Given the description of an element on the screen output the (x, y) to click on. 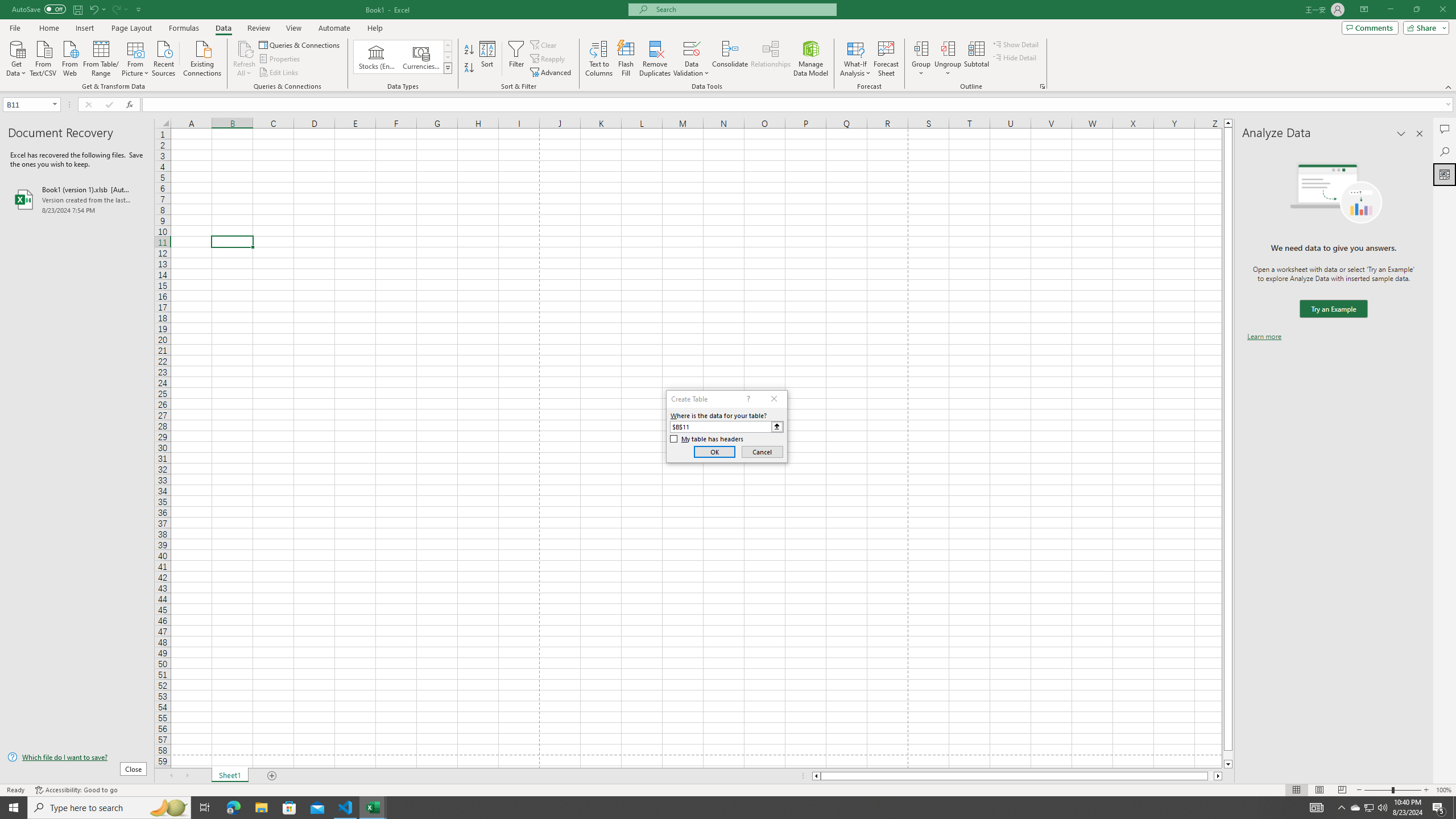
Data Types (448, 67)
Close pane (1419, 133)
Zoom In (1426, 790)
Filter (515, 58)
What-If Analysis (855, 58)
Refresh All (244, 48)
Column left (815, 775)
Page down (1228, 755)
Search (1444, 151)
From Web (69, 57)
Consolidate... (729, 58)
Sheet1 (229, 775)
Comments (1444, 128)
Get Data (16, 57)
